Given the description of an element on the screen output the (x, y) to click on. 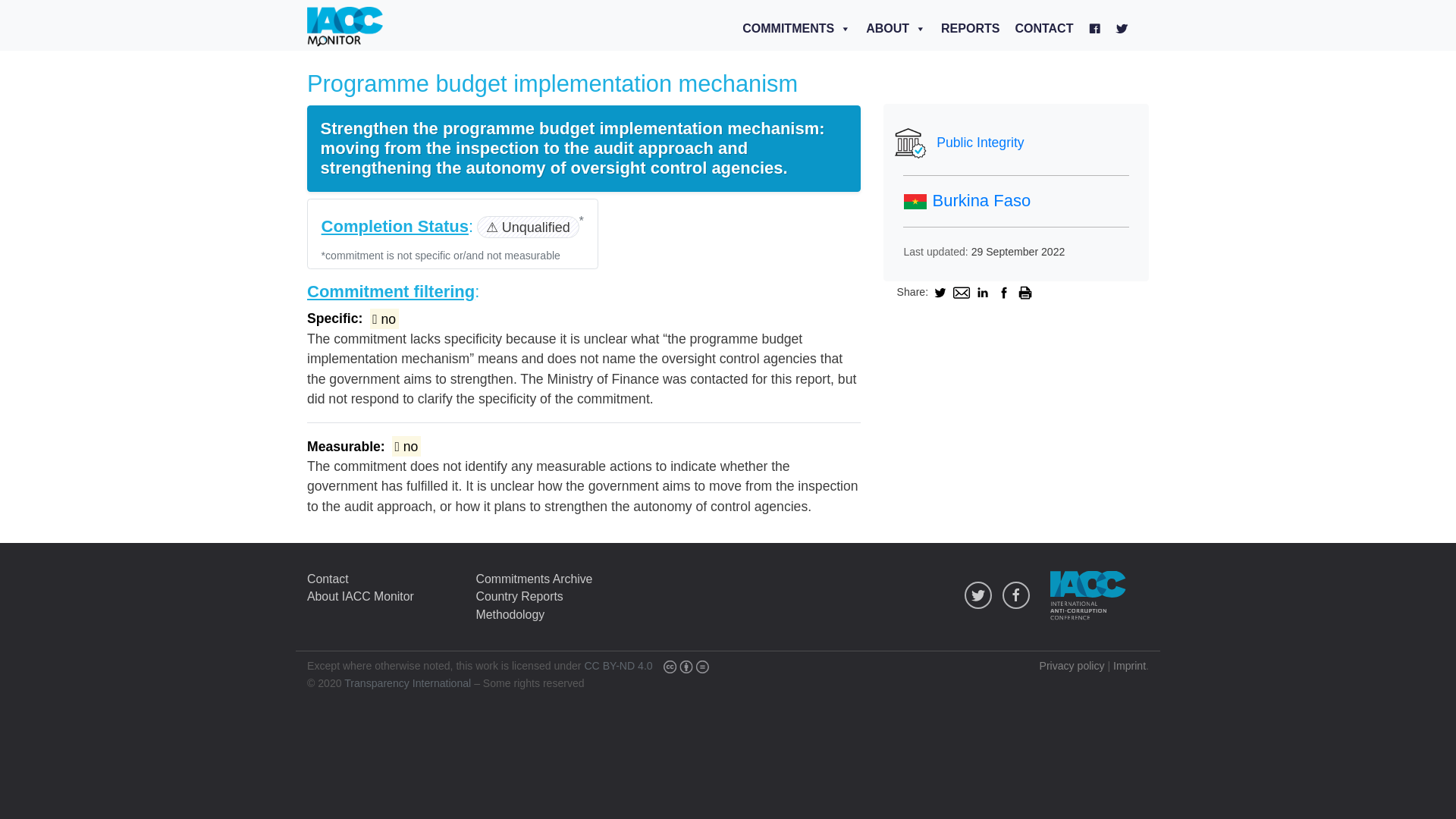
Country Reports (519, 595)
CONTACT (1043, 28)
IACC Monitor (344, 28)
Methodology (510, 614)
Commitments Archive (534, 577)
REPORTS (970, 28)
About IACC Monitor (360, 595)
Burkina Faso (966, 199)
ABOUT (896, 28)
COMMITMENTS (797, 28)
Contact (328, 577)
Public Integrity (1015, 143)
